Given the description of an element on the screen output the (x, y) to click on. 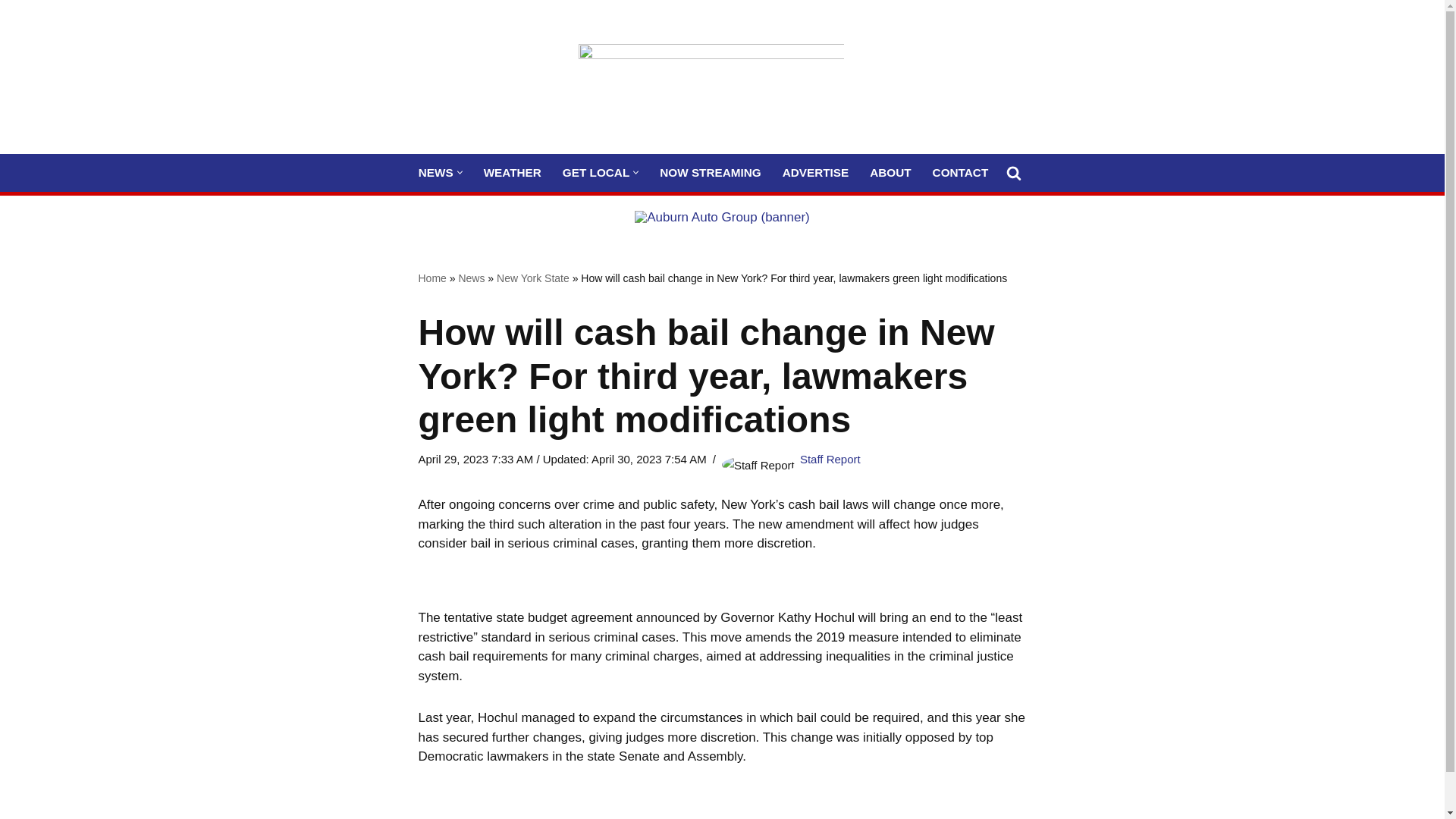
NOW STREAMING (709, 171)
NEWS (435, 171)
CONTACT (960, 171)
WEATHER (512, 171)
Posts by Staff Report (829, 459)
Skip to content (11, 31)
ABOUT (890, 171)
GET LOCAL (595, 171)
ADVERTISE (815, 171)
